Given the description of an element on the screen output the (x, y) to click on. 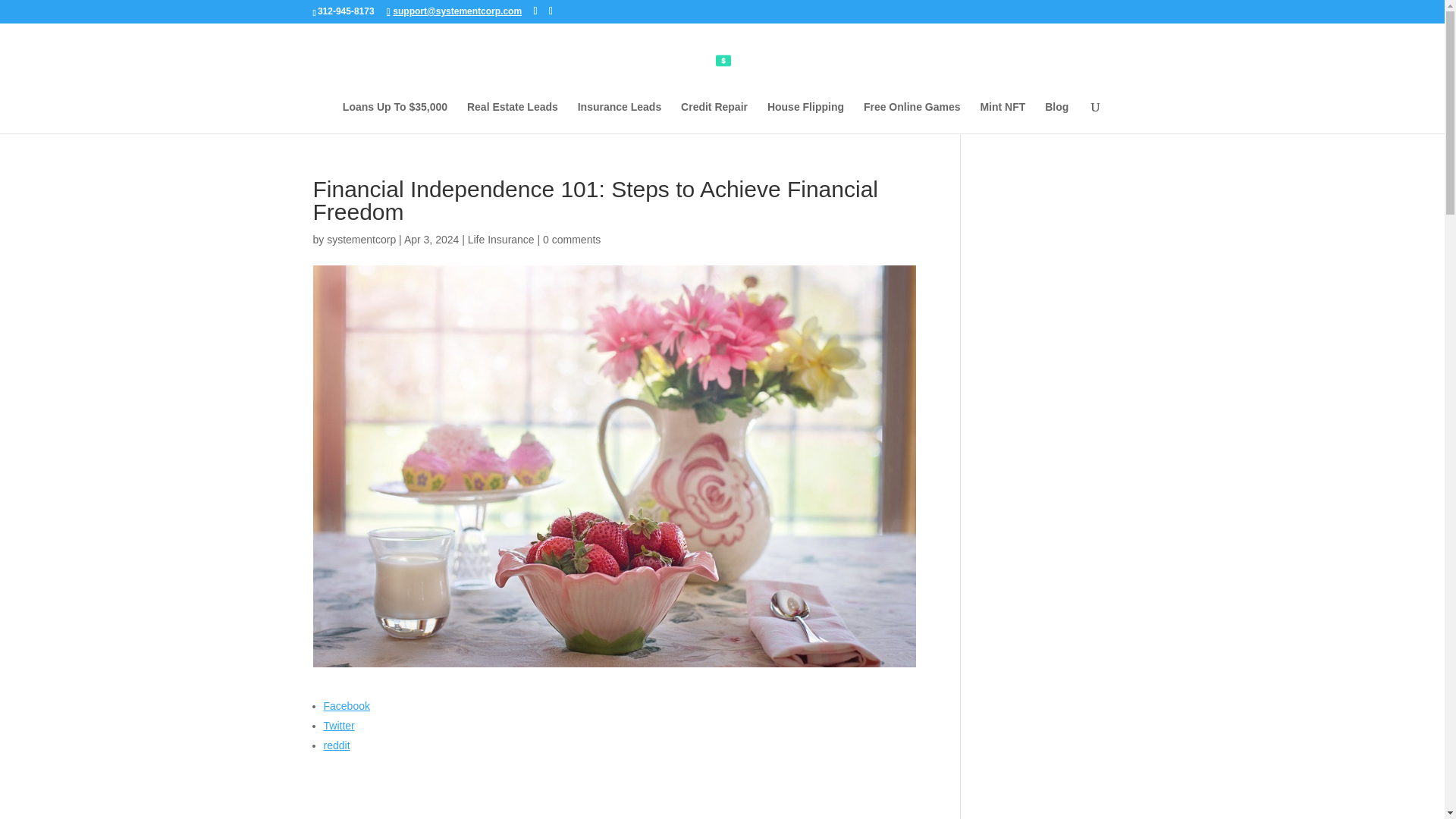
0 comments (571, 239)
Insurance Leads (620, 117)
Facebook (619, 705)
Free Online Games (911, 117)
Credit Repair (714, 117)
Twitter (619, 725)
Life Insurance (500, 239)
Real Estate Leads (512, 117)
House Flipping (805, 117)
systementcorp (361, 239)
reddit (619, 745)
Mint NFT (1002, 117)
Posts by systementcorp (361, 239)
